Given the description of an element on the screen output the (x, y) to click on. 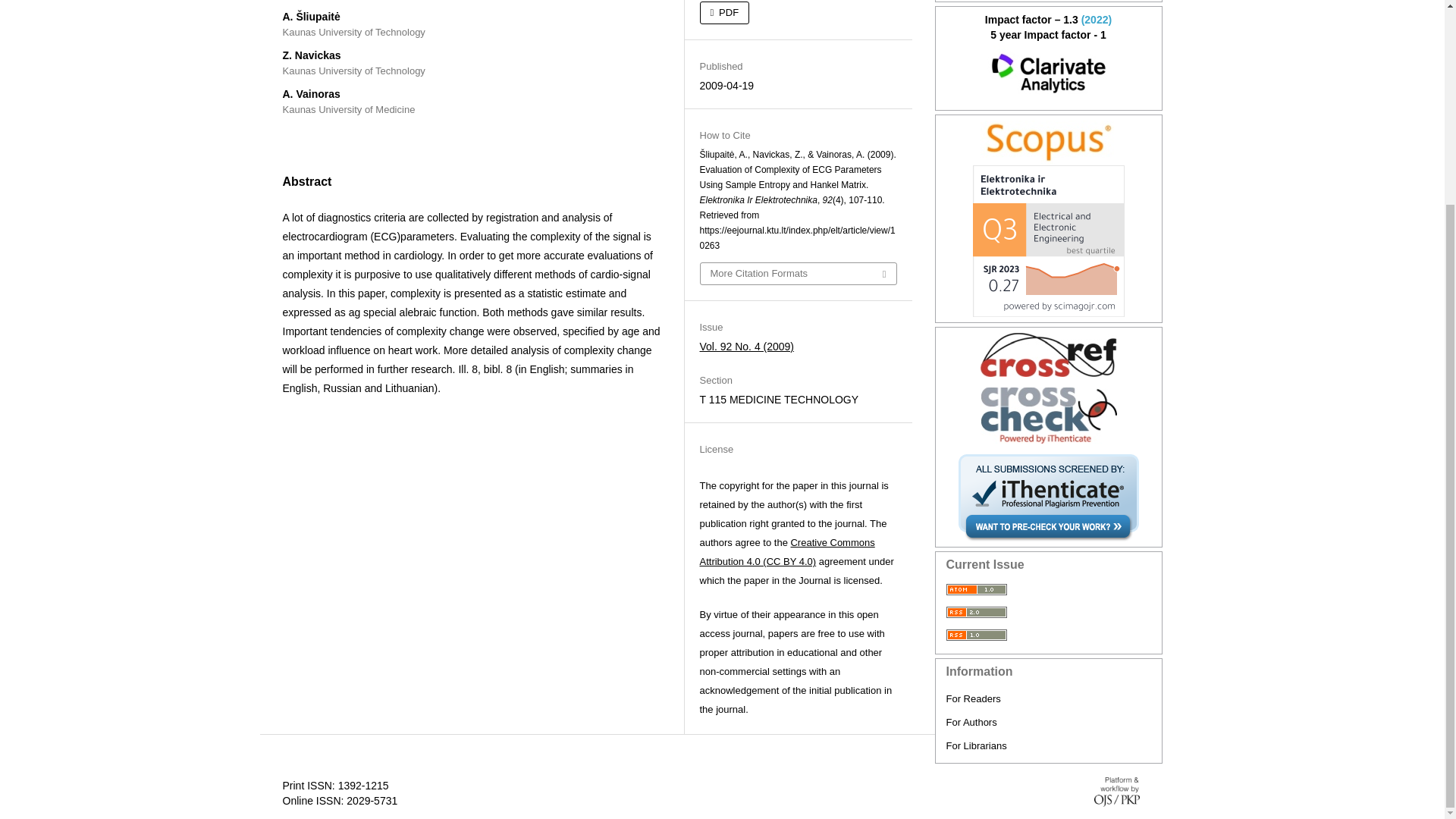
PDF (723, 12)
Journal: Elektronika Ir Elektrotechnika (1048, 73)
More Citation Formats (798, 273)
Journal: Elektronika Ir Elektrotechnika (1048, 142)
